Given the description of an element on the screen output the (x, y) to click on. 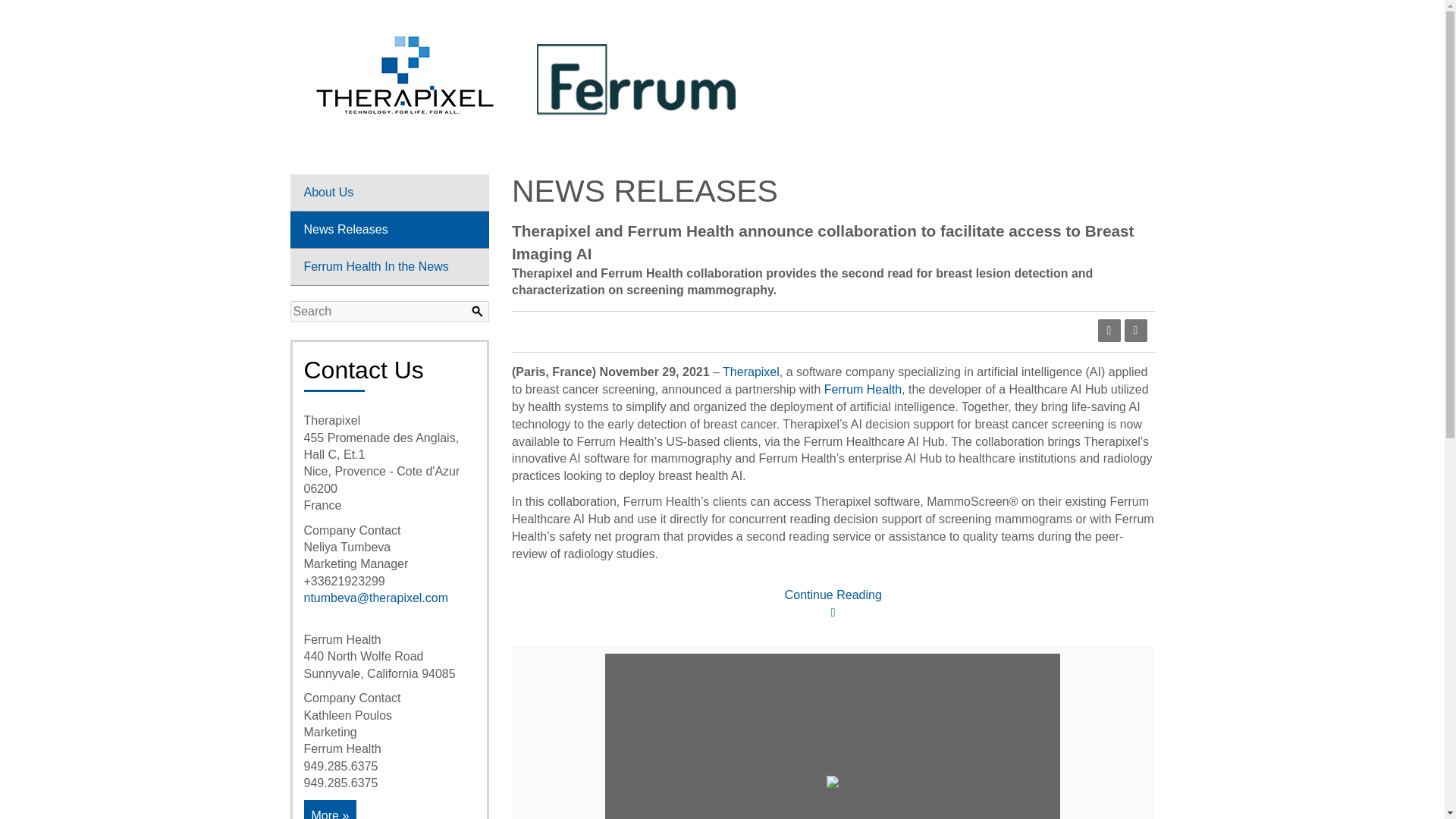
Ferrum Health (862, 389)
email (1109, 330)
Continue Reading (833, 604)
Search (389, 311)
News Releases (389, 230)
print (1135, 330)
About Us (389, 192)
Ferrum Health In the News (389, 267)
Continue Reading (833, 604)
Therapixel (750, 371)
